Given the description of an element on the screen output the (x, y) to click on. 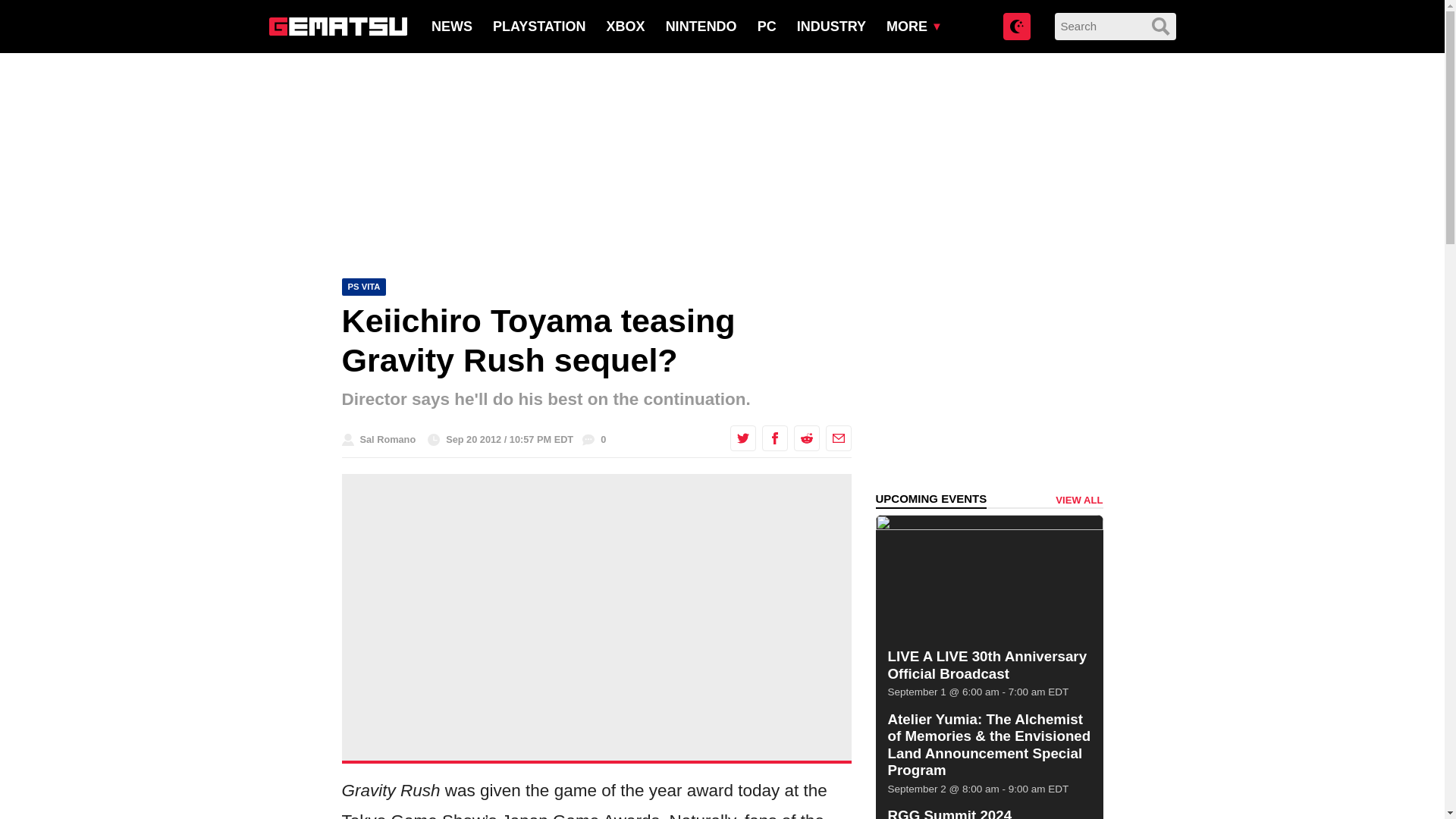
Gematsu (336, 26)
Share this on Facebook (774, 438)
PLAYSTATION (539, 26)
NINTENDO (700, 26)
INDUSTRY (831, 26)
PC (766, 26)
NEWS (450, 26)
MORE (906, 26)
Share this by email (837, 438)
Share this on Twitter (742, 438)
